Given the description of an element on the screen output the (x, y) to click on. 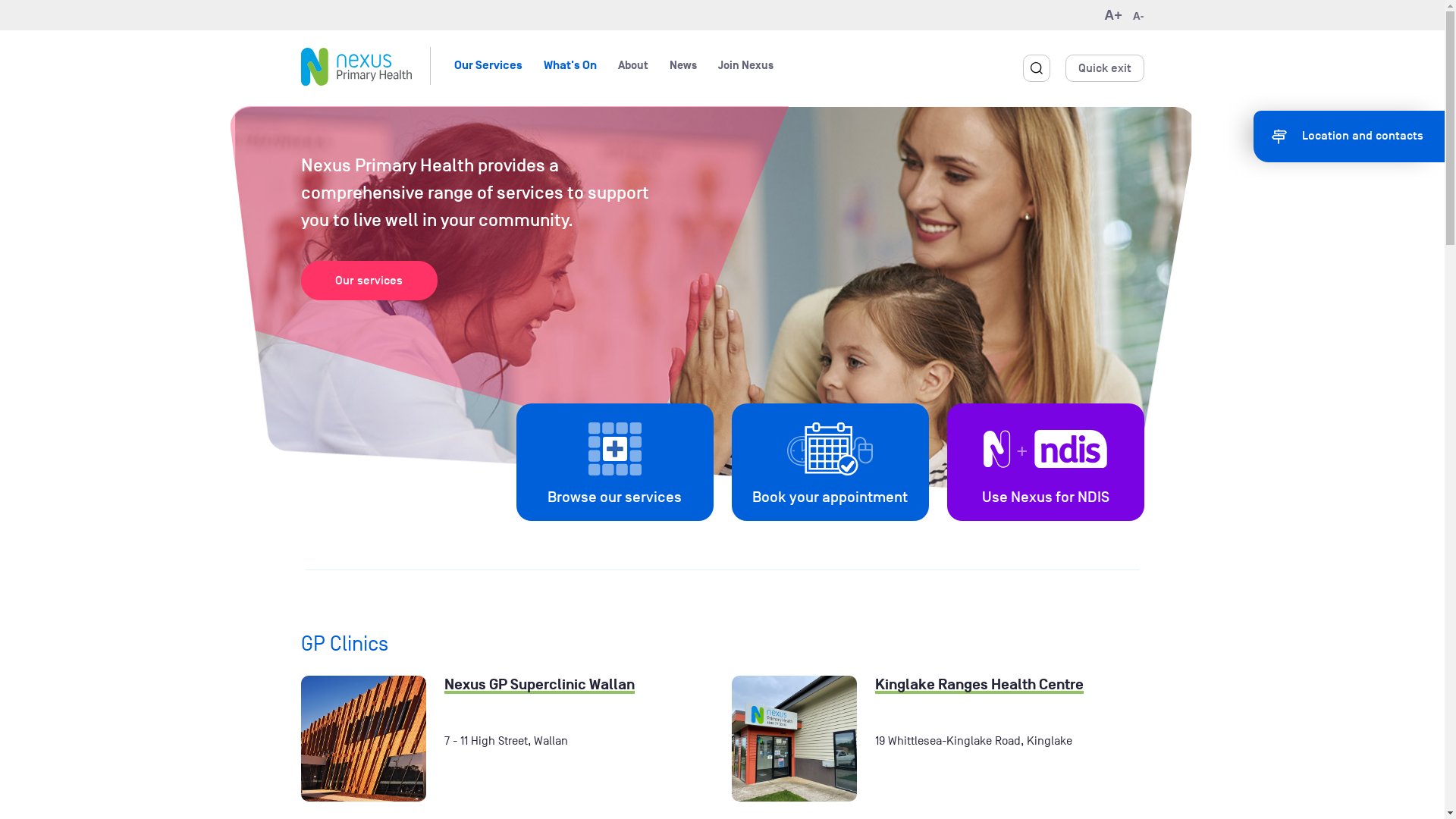
Nexus GP Superclinic Wallan Element type: text (539, 684)
A+ Element type: text (1113, 15)
Location and contacts Element type: text (1348, 136)
What's On Element type: text (569, 65)
Book your appointment Element type: text (820, 461)
Kinglake Ranges Health Centre Element type: text (979, 684)
News Element type: text (682, 65)
Our Services Element type: text (487, 65)
Our services Element type: text (368, 280)
A- Element type: text (1138, 15)
About Element type: text (632, 65)
Quick exit Element type: text (1103, 67)
Join Nexus Element type: text (744, 65)
Use Nexus for NDIS Element type: text (1035, 461)
Browse our services Element type: text (604, 461)
